Given the description of an element on the screen output the (x, y) to click on. 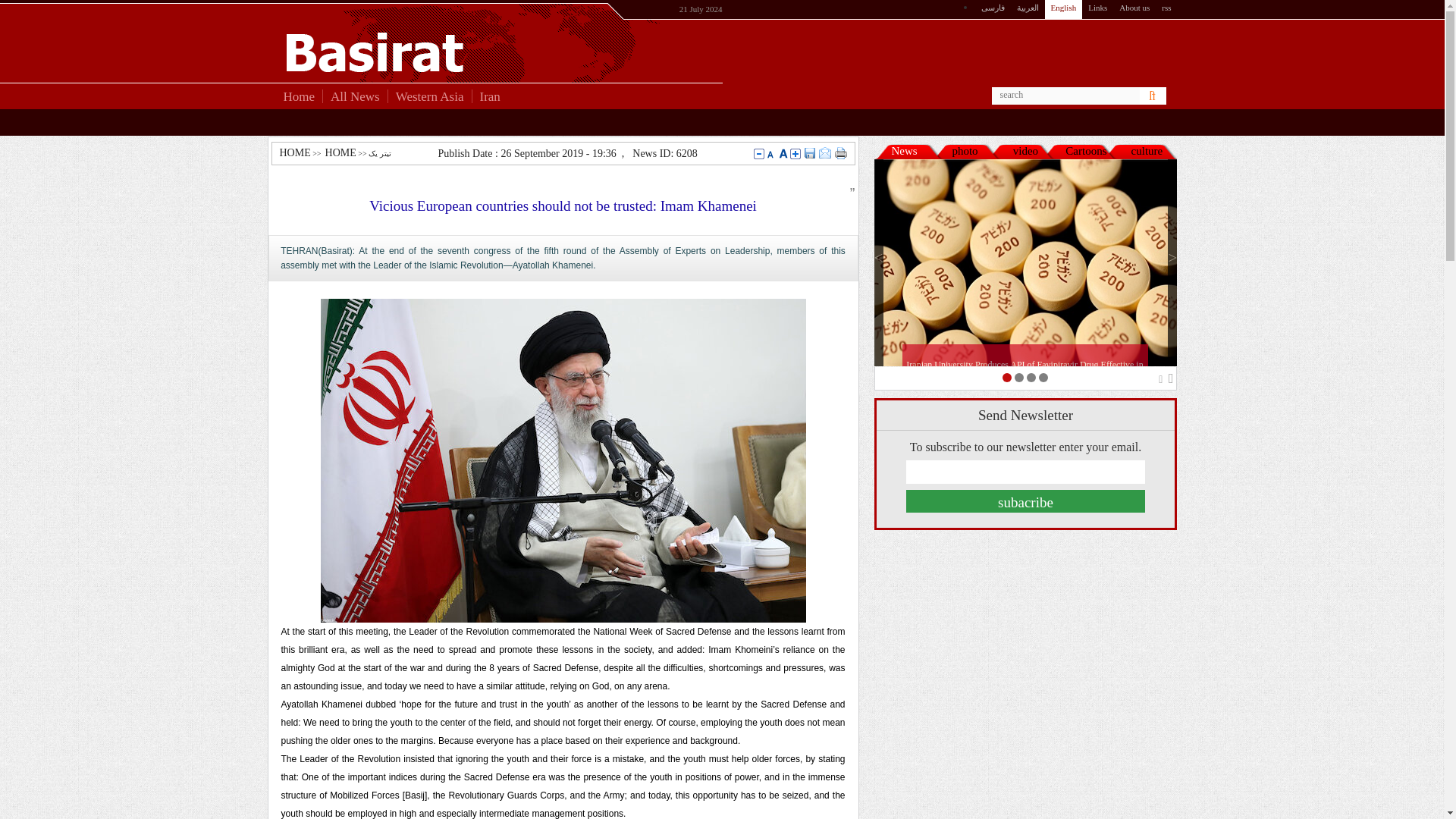
arabic (1027, 9)
Western Asia (429, 97)
Home (293, 97)
English (1064, 9)
About us (1134, 9)
rss (1166, 9)
search (1157, 95)
english (1064, 9)
subacribe (1024, 500)
farsi (992, 9)
All News (355, 97)
links (1097, 9)
Iran (488, 97)
Links (1097, 9)
about (1134, 9)
